Given the description of an element on the screen output the (x, y) to click on. 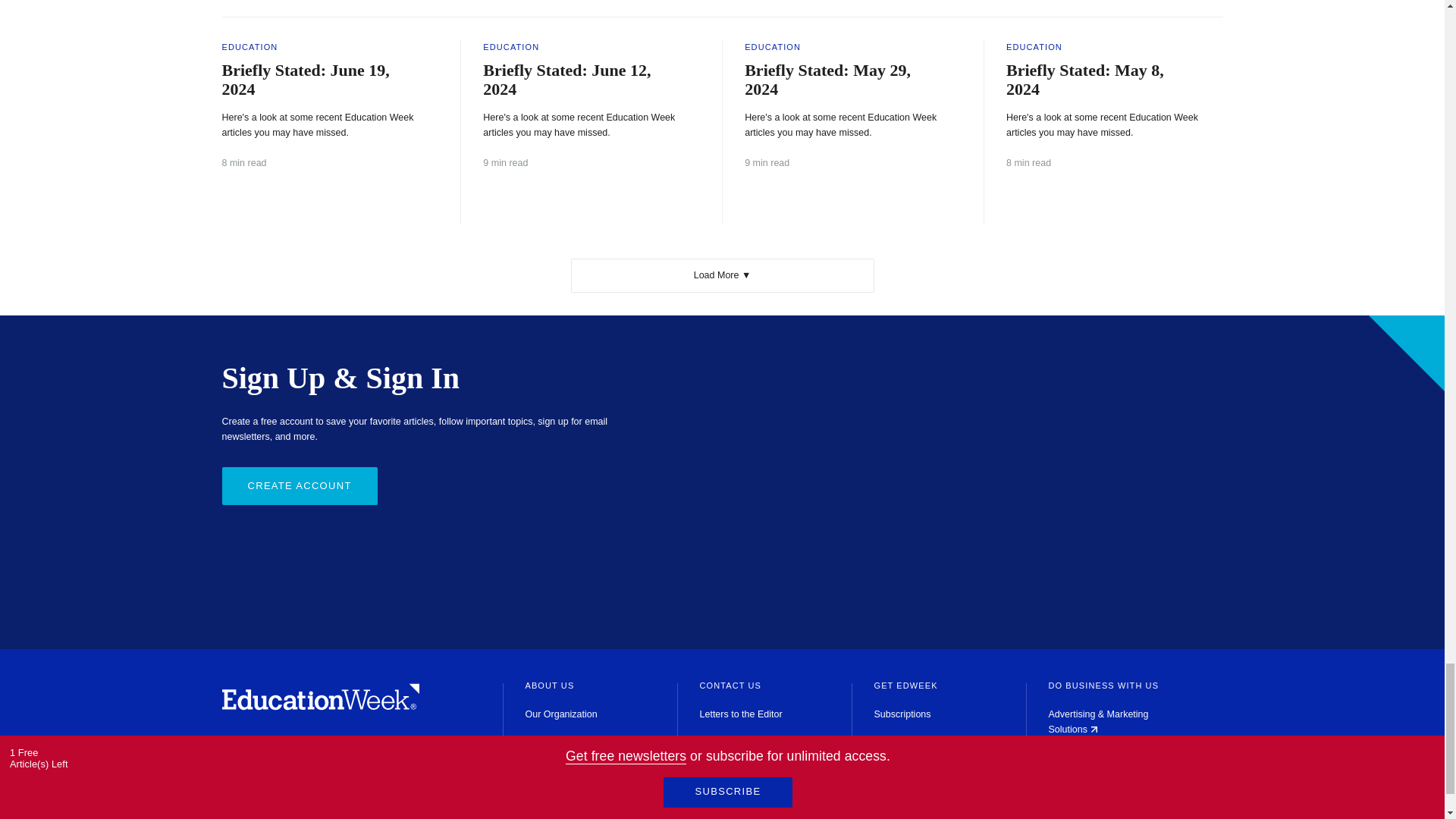
Homepage (320, 706)
